Given the description of an element on the screen output the (x, y) to click on. 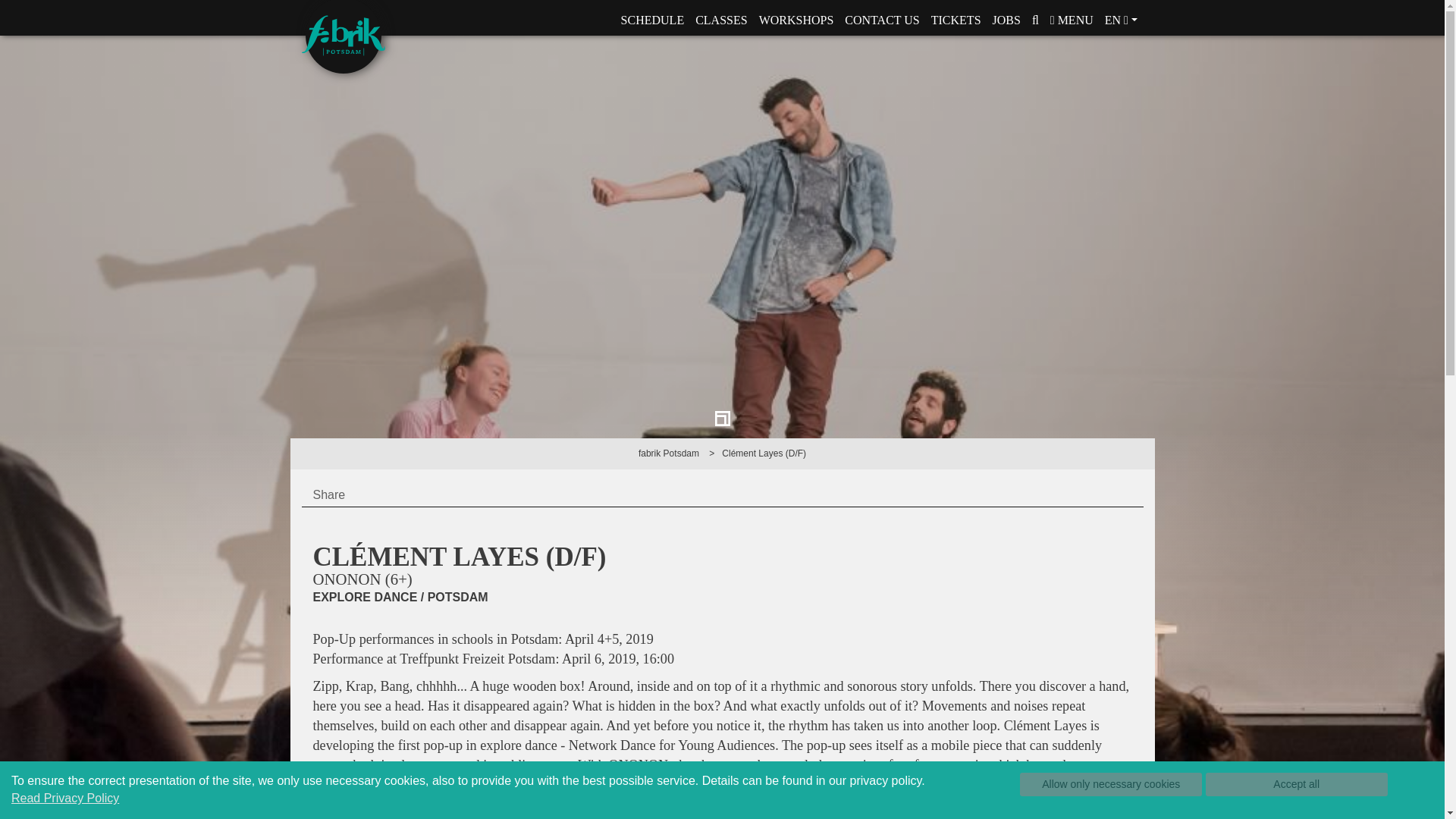
EN (1120, 20)
TICKETS (955, 20)
WORKSHOPS (796, 20)
SCHEDULE (652, 20)
icon-open (721, 417)
icon-open (721, 418)
MENU (1071, 20)
JOBS (1006, 20)
CLASSES (721, 20)
fabrik Potsdam (668, 452)
Share (329, 494)
CONTACT US (882, 20)
